Given the description of an element on the screen output the (x, y) to click on. 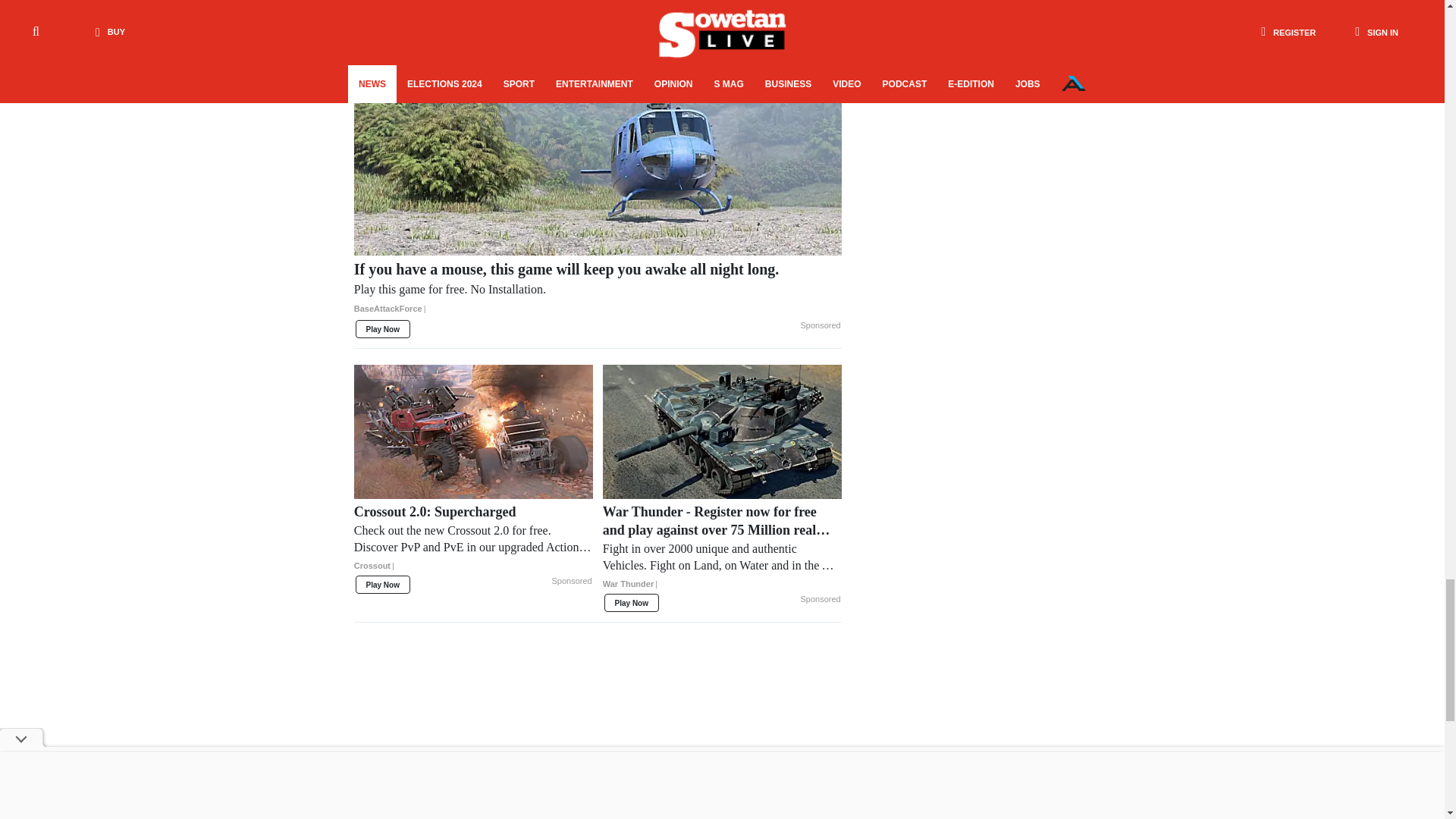
Crossout 2.0: Supercharged (472, 543)
